Given the description of an element on the screen output the (x, y) to click on. 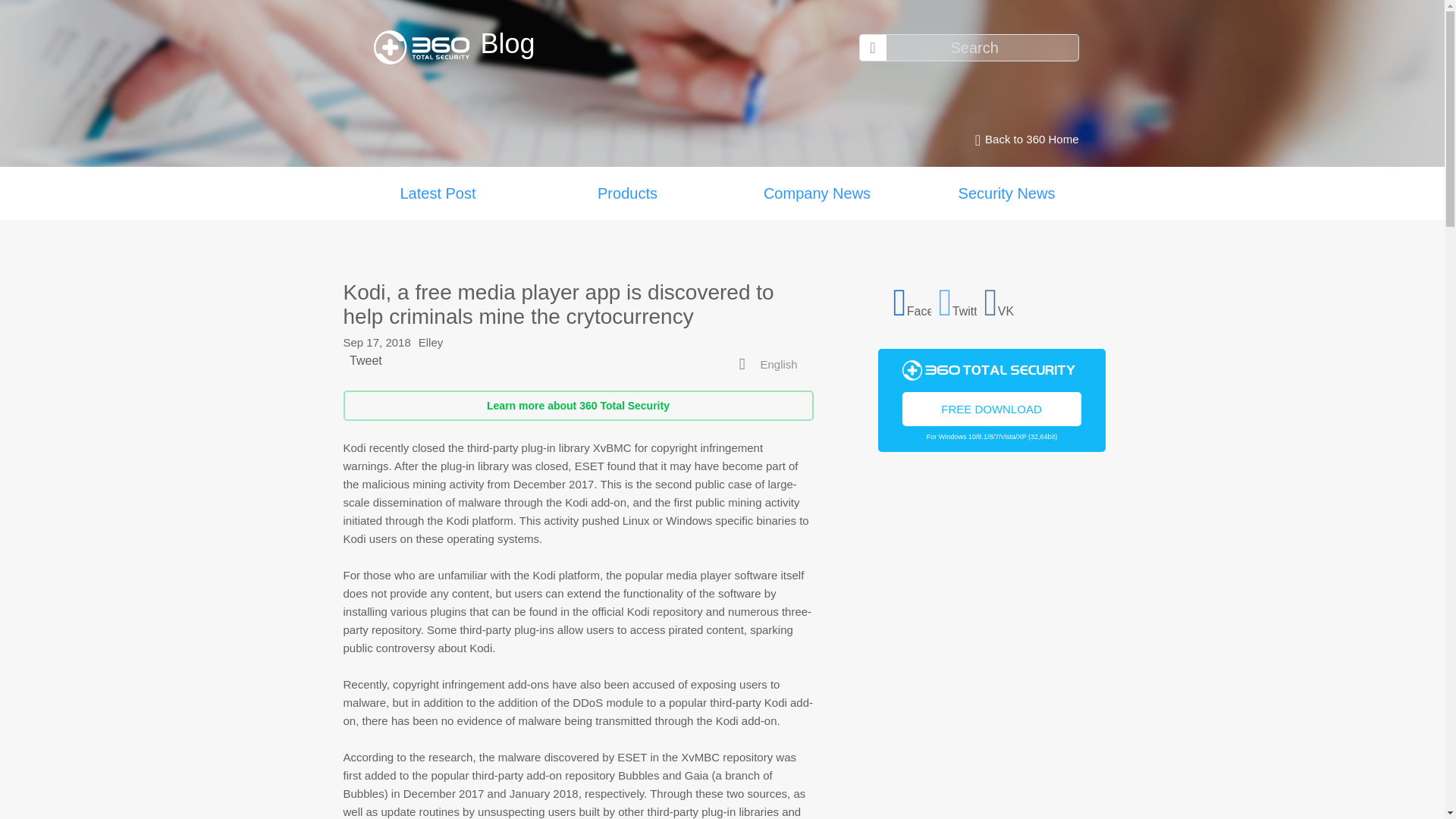
VK (1003, 299)
Twitter (957, 299)
Learn more about 360 Total Security (577, 405)
Facebook (912, 299)
Products (627, 193)
Company News (816, 193)
Back to 360 Home (1022, 140)
FREE DOWNLOAD (991, 408)
Free Download (991, 408)
360 Total Security Blog Logo (426, 47)
